Given the description of an element on the screen output the (x, y) to click on. 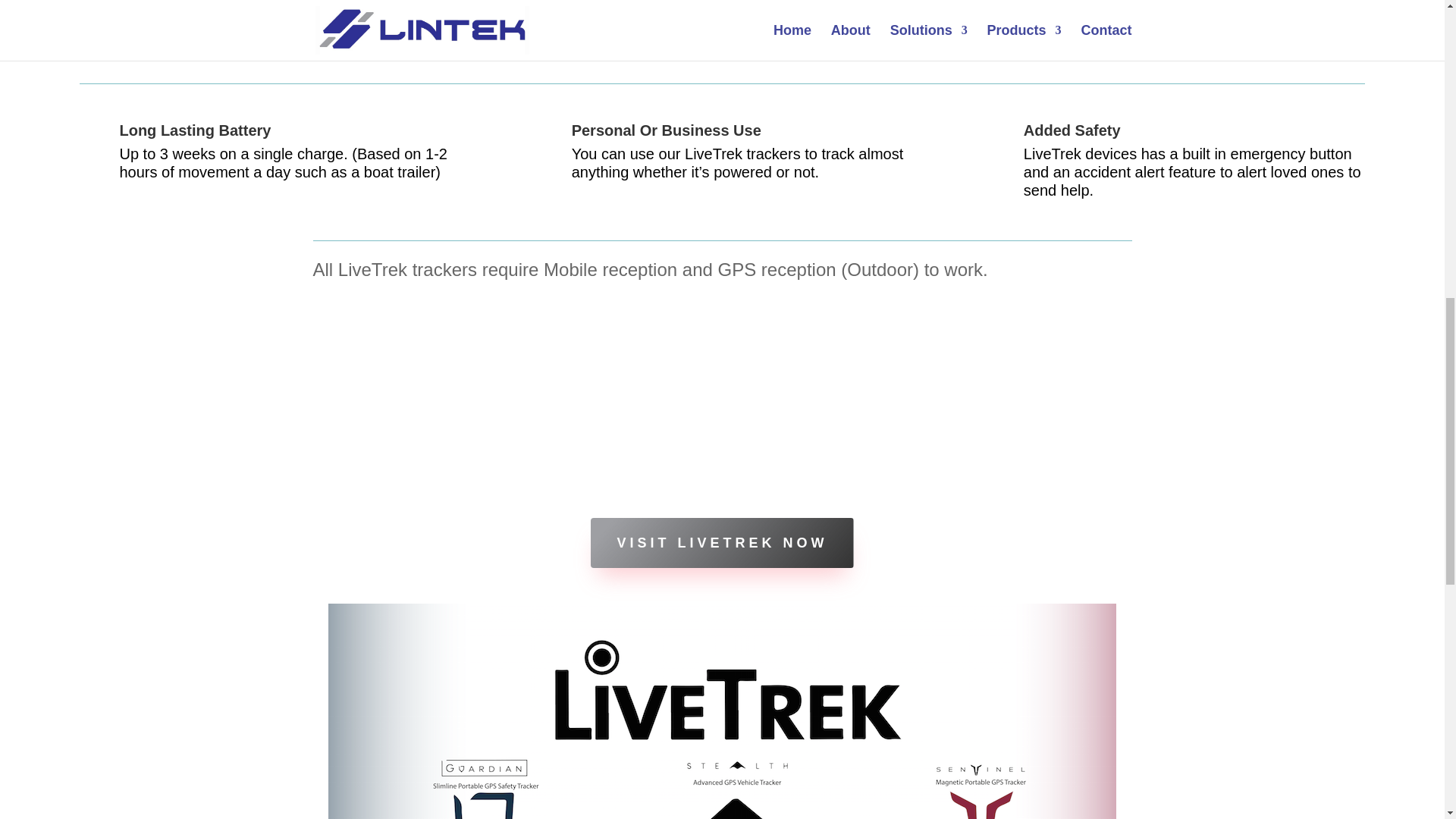
VISIT LIVETREK NOW (722, 542)
